Given the description of an element on the screen output the (x, y) to click on. 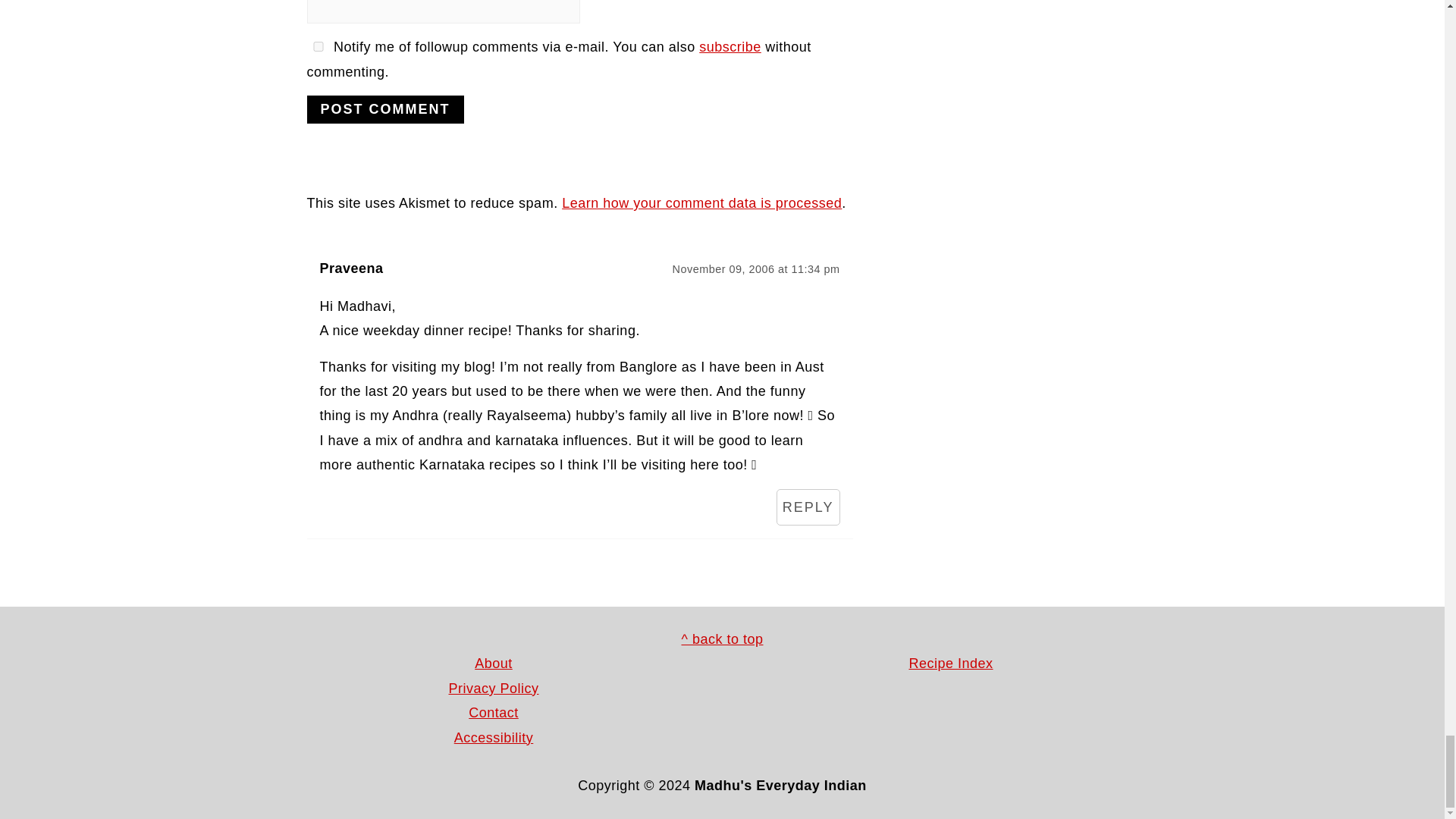
Post Comment (384, 109)
yes (317, 46)
